Given the description of an element on the screen output the (x, y) to click on. 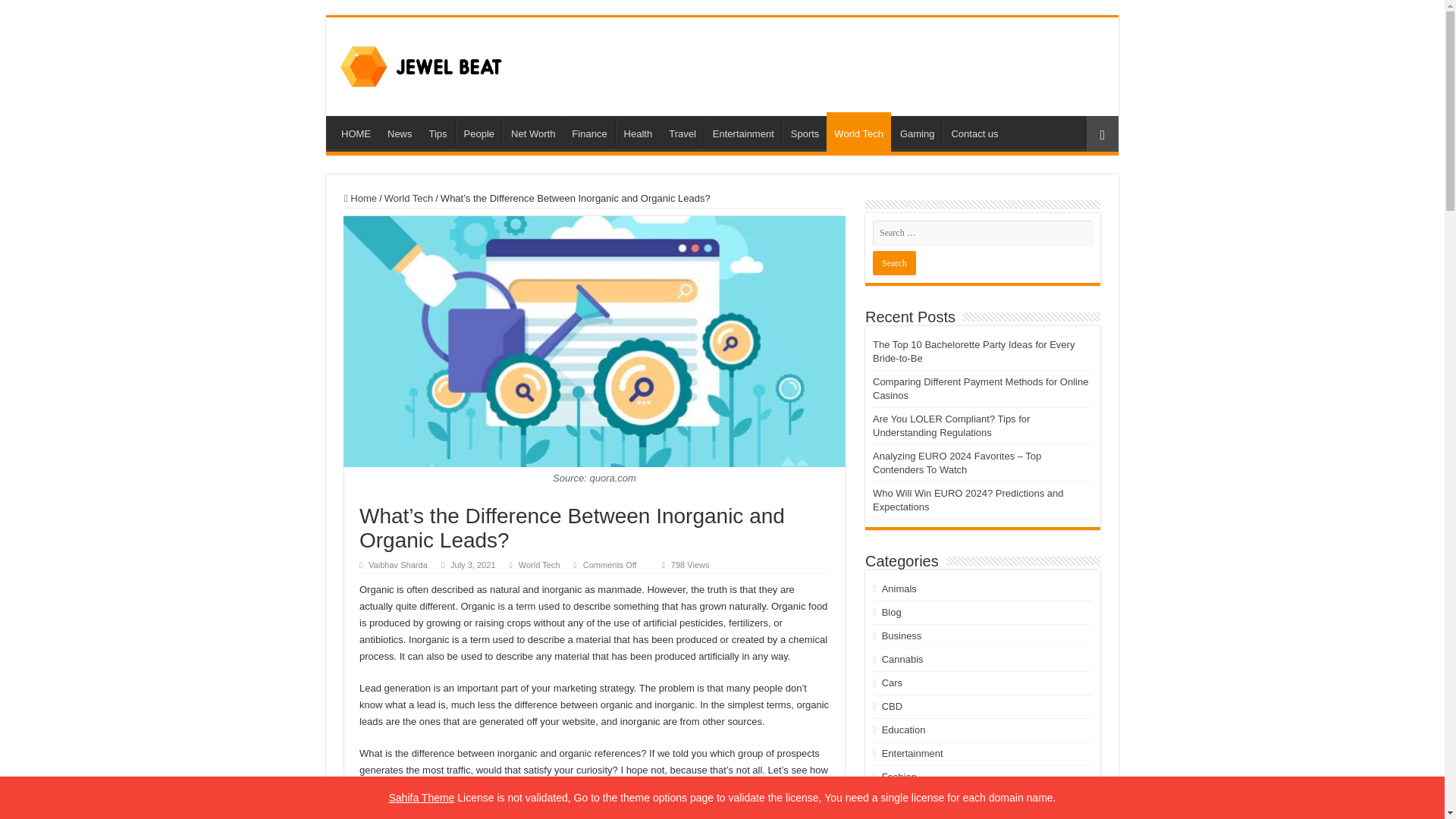
Gaming (916, 132)
Health (638, 132)
Travel (682, 132)
Vaibhav Sharda (398, 564)
Entertainment (742, 132)
Tips (437, 132)
World Tech (859, 131)
World Tech (539, 564)
Search (893, 262)
Home (360, 197)
HOME (355, 132)
News (399, 132)
Net Worth (532, 132)
Contact us (974, 132)
Finance (588, 132)
